Given the description of an element on the screen output the (x, y) to click on. 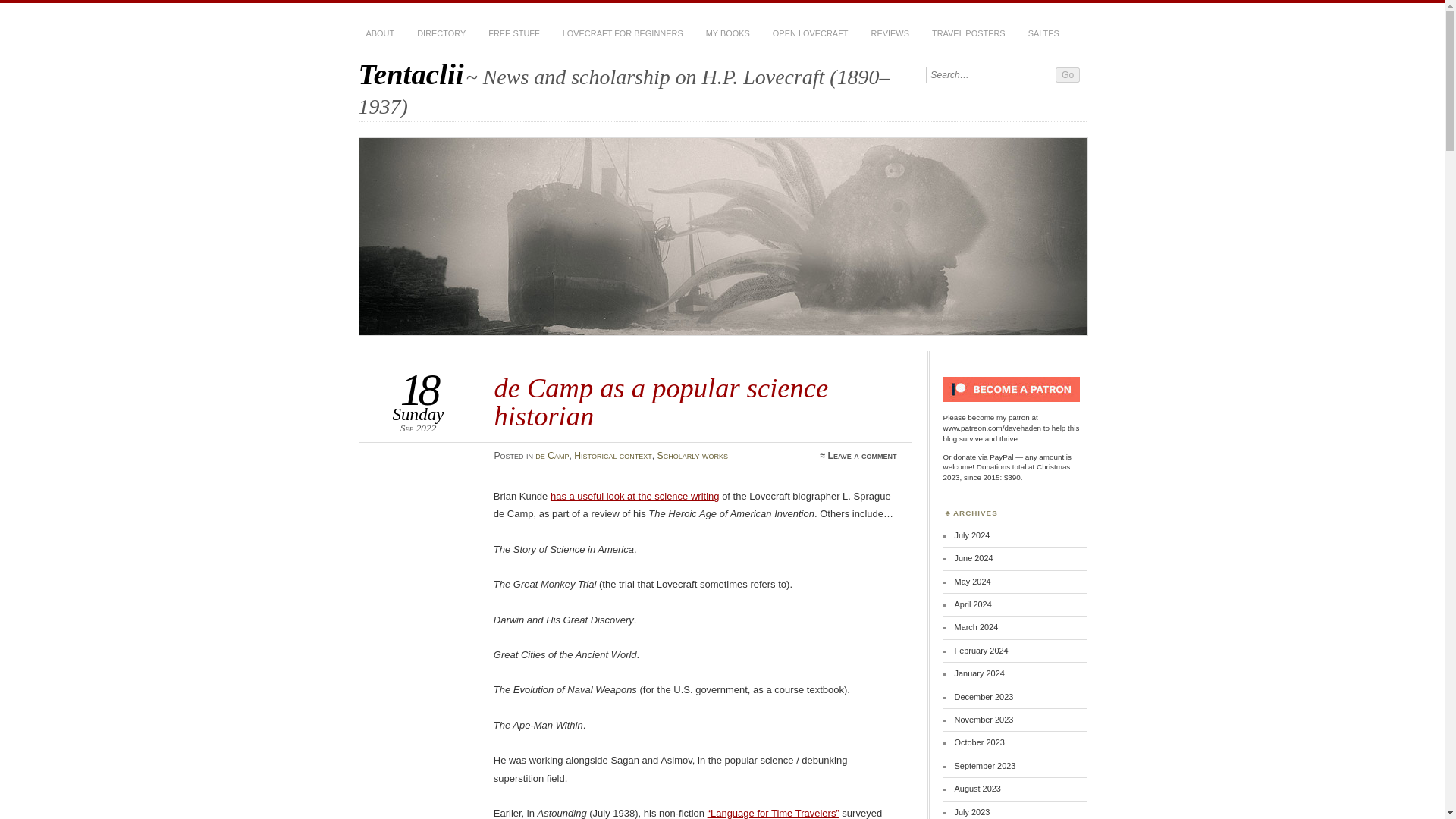
OPEN LOVECRAFT (810, 33)
MY BOOKS (727, 33)
Go (1067, 74)
October 2023 (979, 741)
April 2024 (973, 604)
November 2023 (984, 718)
December 2023 (984, 696)
March 2024 (976, 626)
July 2024 (972, 534)
Scholarly works (693, 455)
TRAVEL POSTERS (968, 33)
May 2024 (973, 580)
de Camp (552, 455)
DIRECTORY (441, 33)
